Given the description of an element on the screen output the (x, y) to click on. 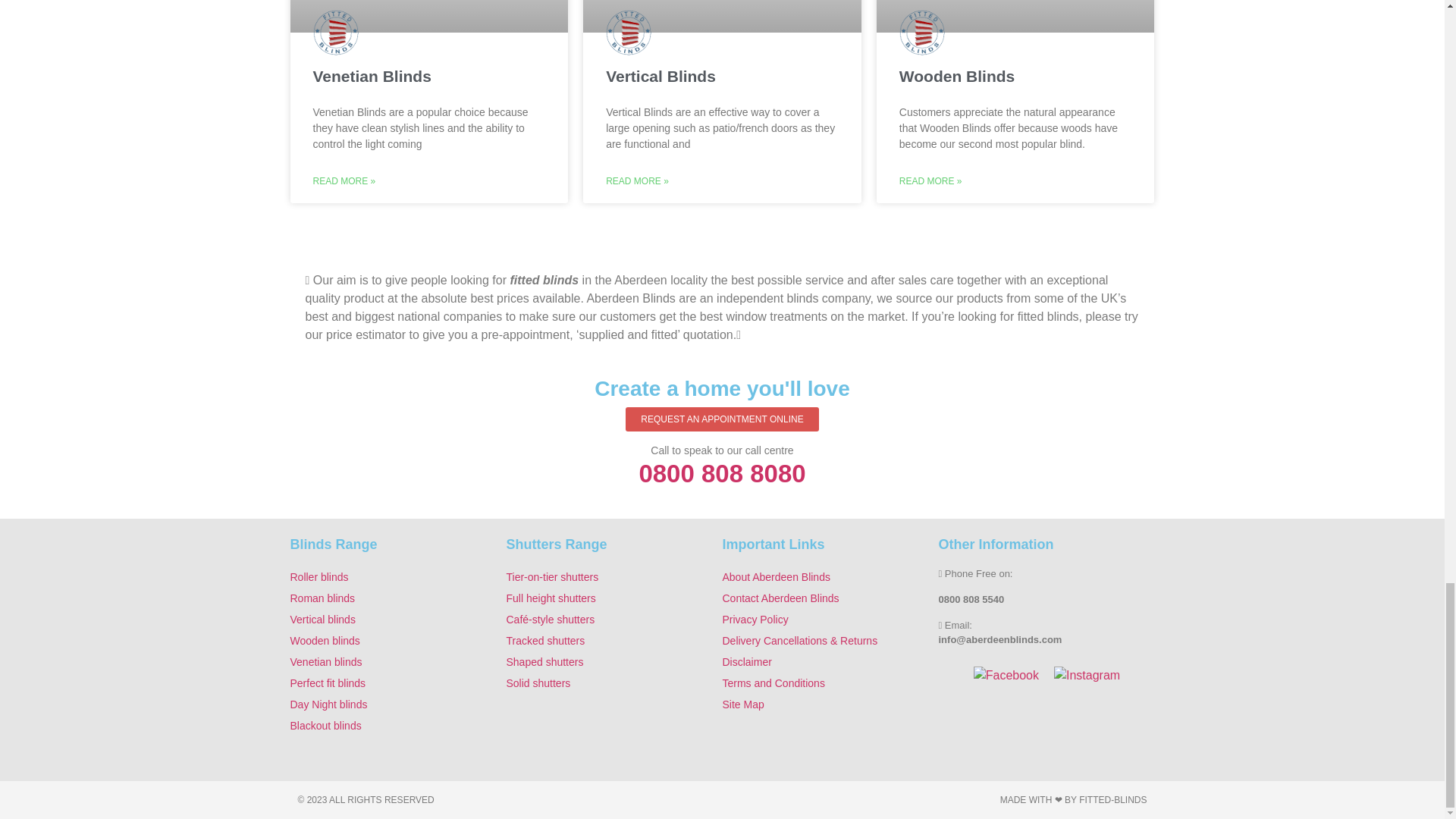
Facebook (1006, 675)
Instagram (1086, 675)
